Given the description of an element on the screen output the (x, y) to click on. 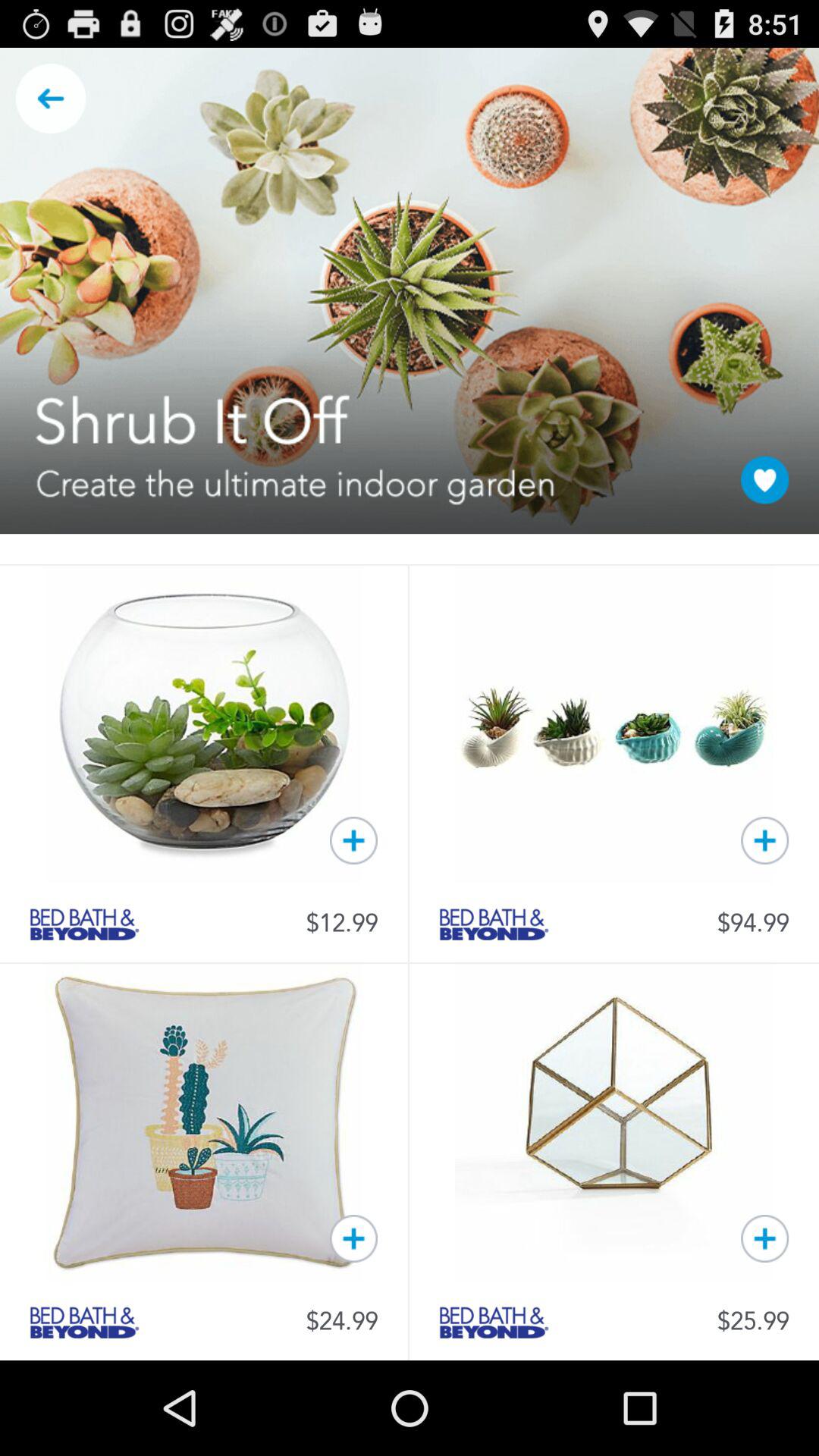
add to cart (764, 840)
